Given the description of an element on the screen output the (x, y) to click on. 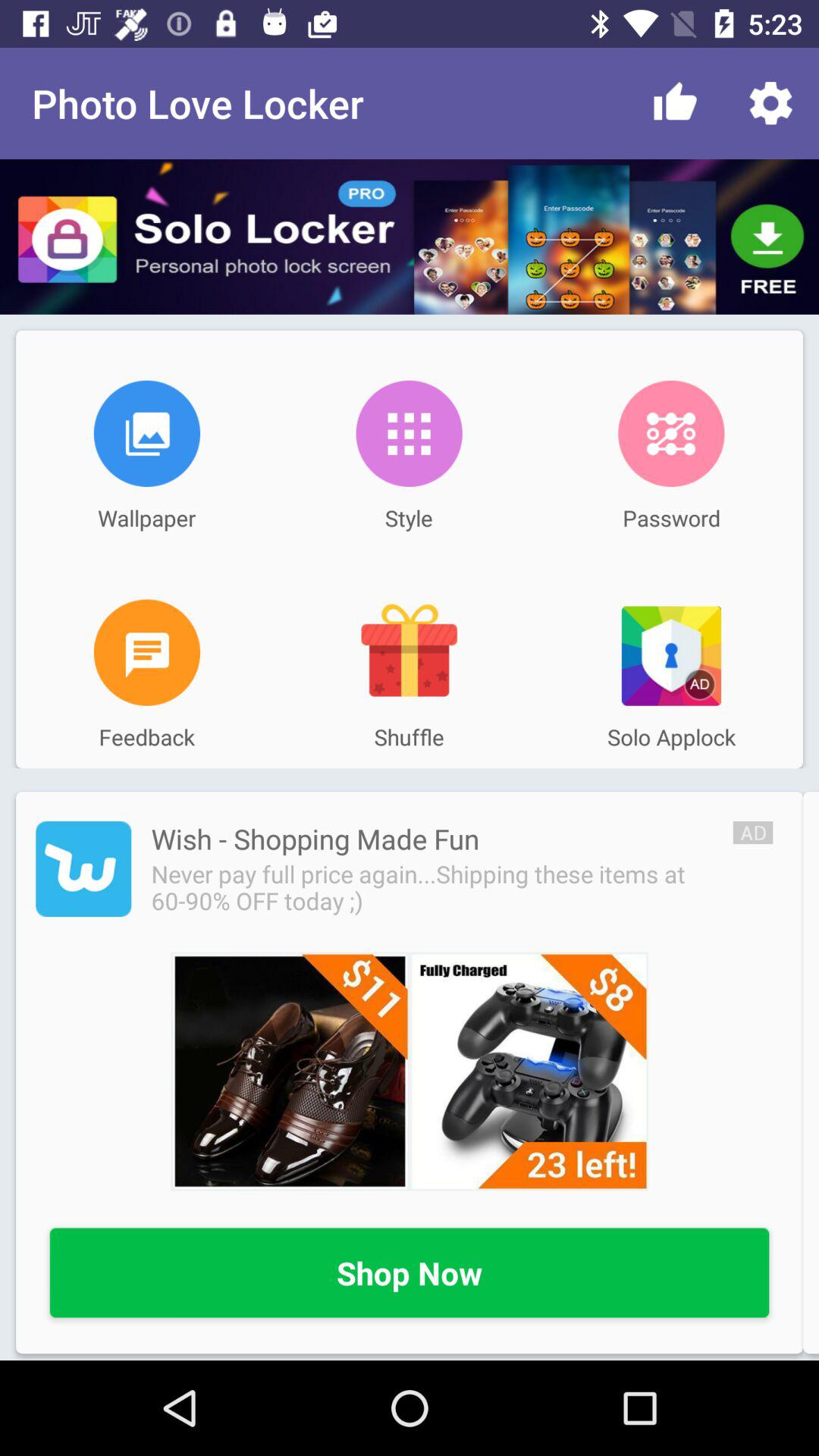
select the item above the never pay full item (315, 838)
